Given the description of an element on the screen output the (x, y) to click on. 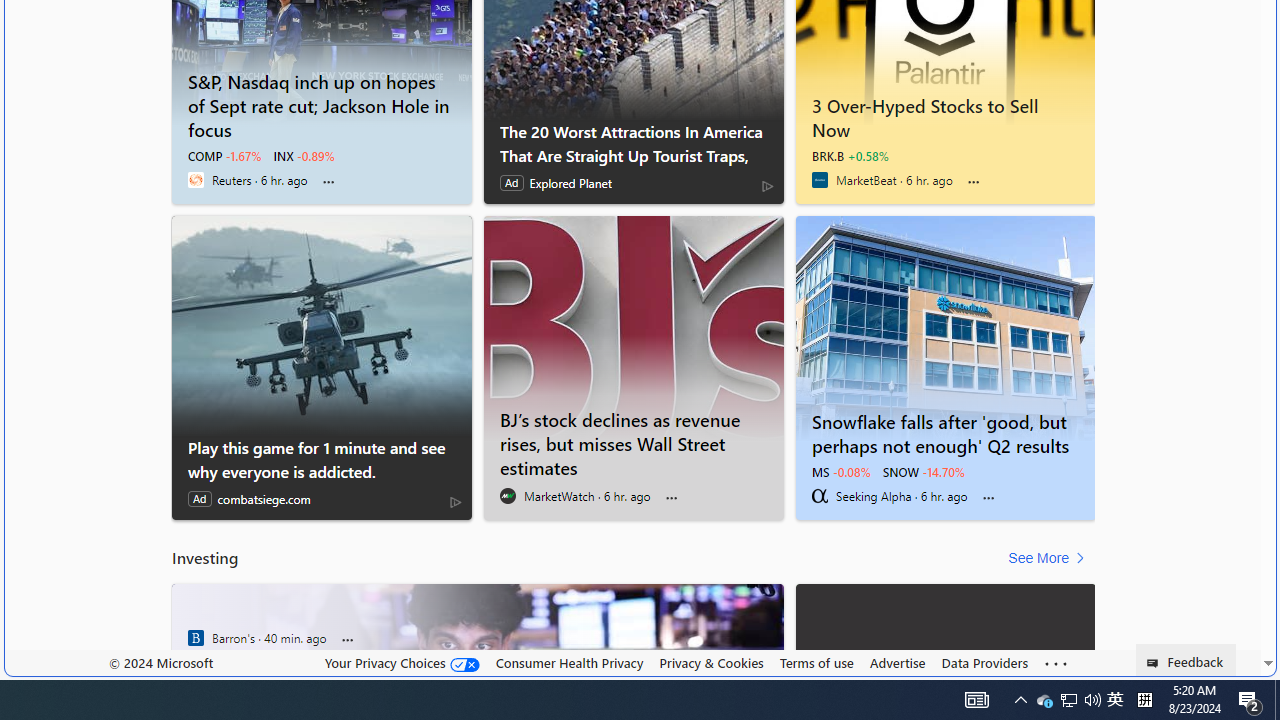
See More (1049, 557)
Class: oneFooter_seeMore-DS-EntryPoint1-1 (1055, 663)
MarketBeat (819, 179)
Barron's (195, 637)
BRK.B +0.58% (850, 156)
MarketWatch (507, 495)
